Given the description of an element on the screen output the (x, y) to click on. 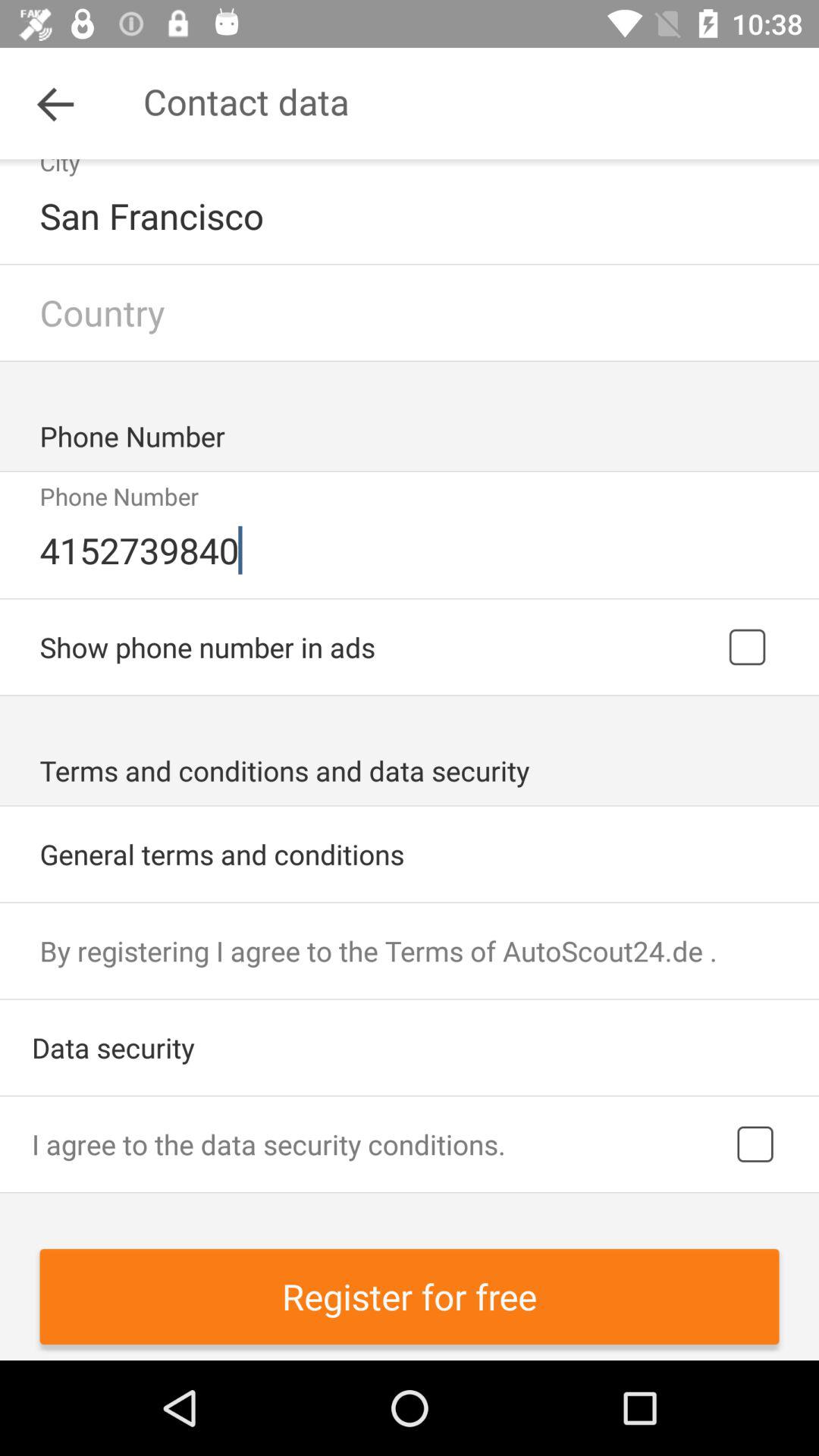
launch san francisco (411, 215)
